Given the description of an element on the screen output the (x, y) to click on. 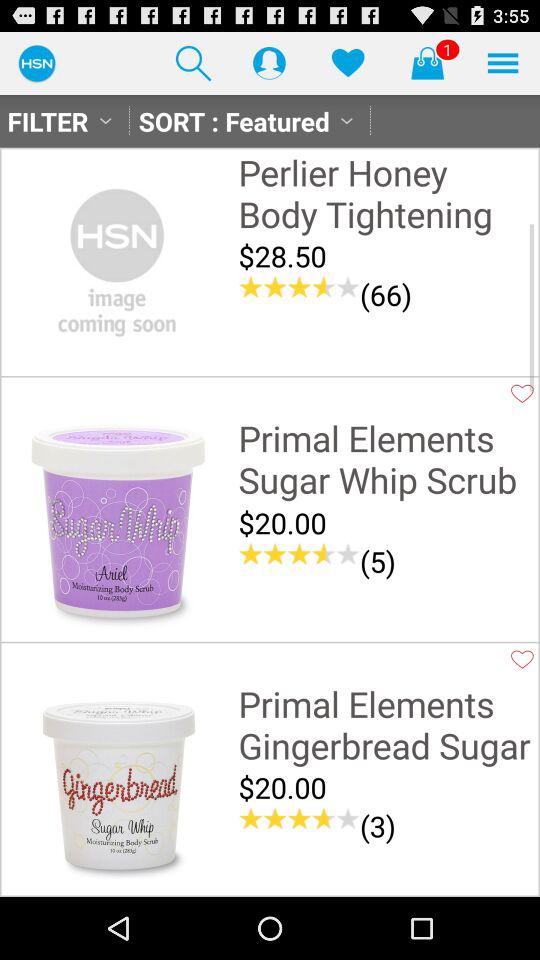
open the item next to the (66) item (299, 287)
